Given the description of an element on the screen output the (x, y) to click on. 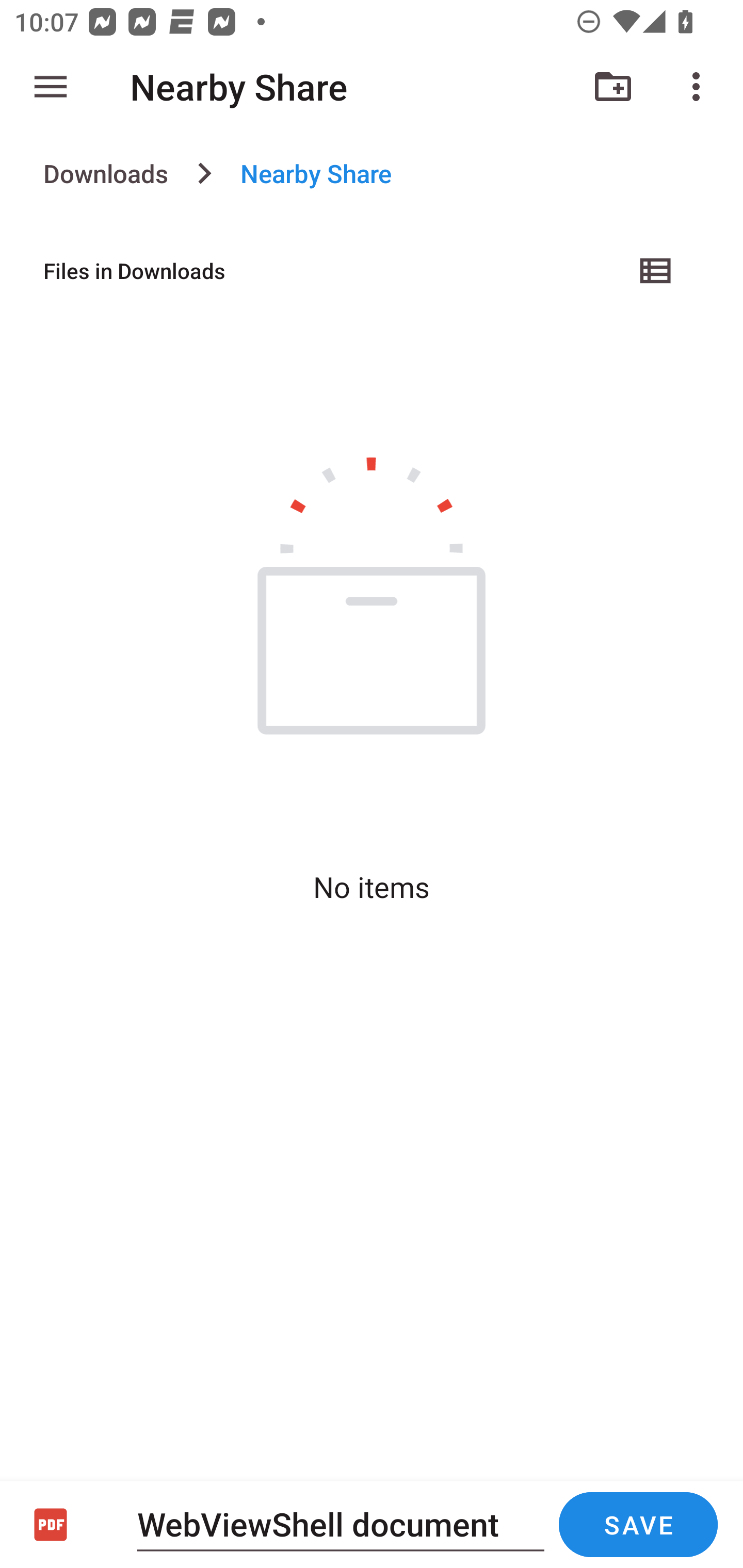
Show roots (50, 86)
New folder (612, 86)
More options (699, 86)
List view (655, 270)
SAVE (637, 1524)
WebViewShell document (340, 1523)
